Given the description of an element on the screen output the (x, y) to click on. 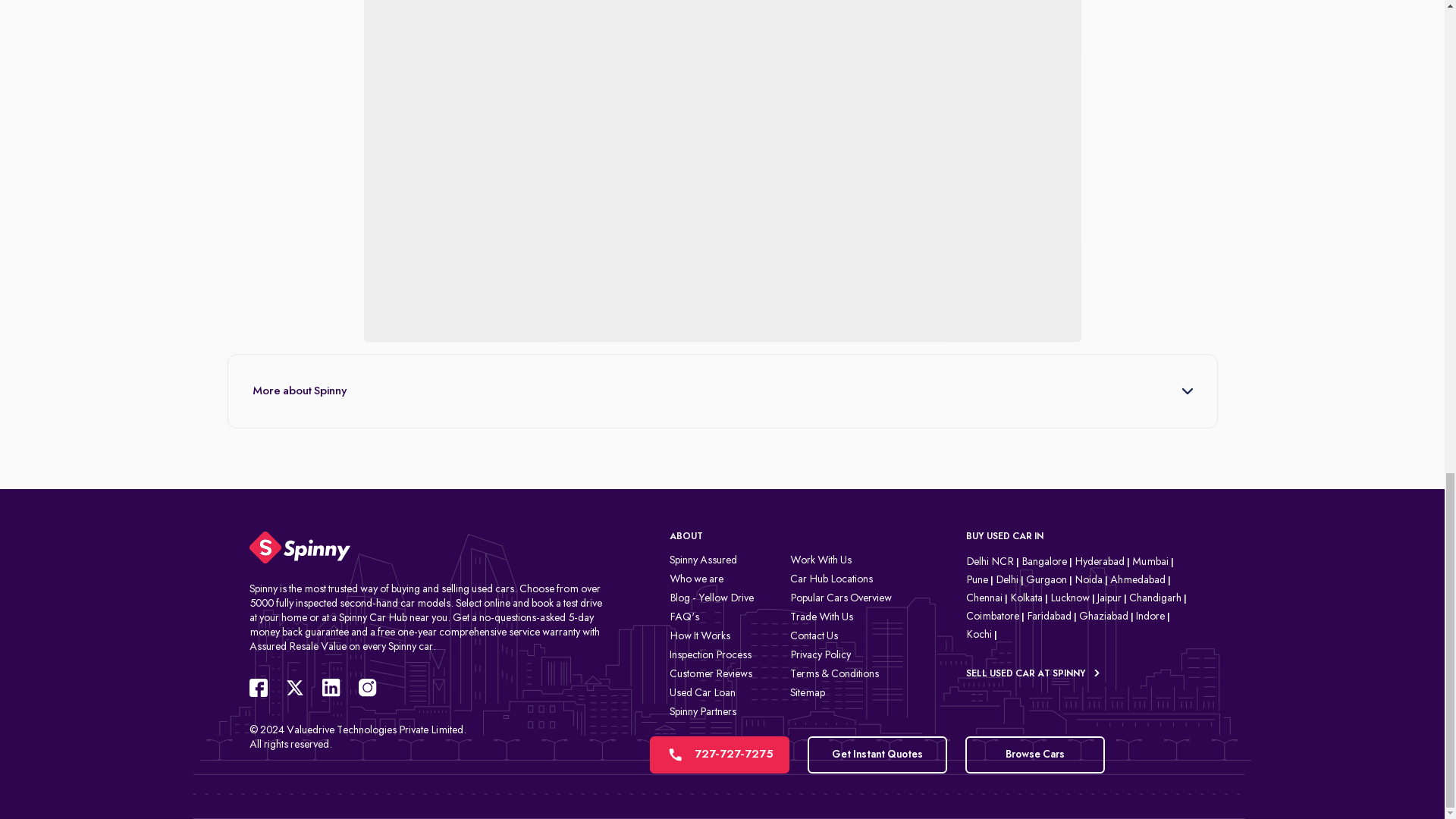
Color (357, 281)
0 (315, 320)
0 (278, 320)
Body Type (357, 2)
Transmission (337, 165)
